Given the description of an element on the screen output the (x, y) to click on. 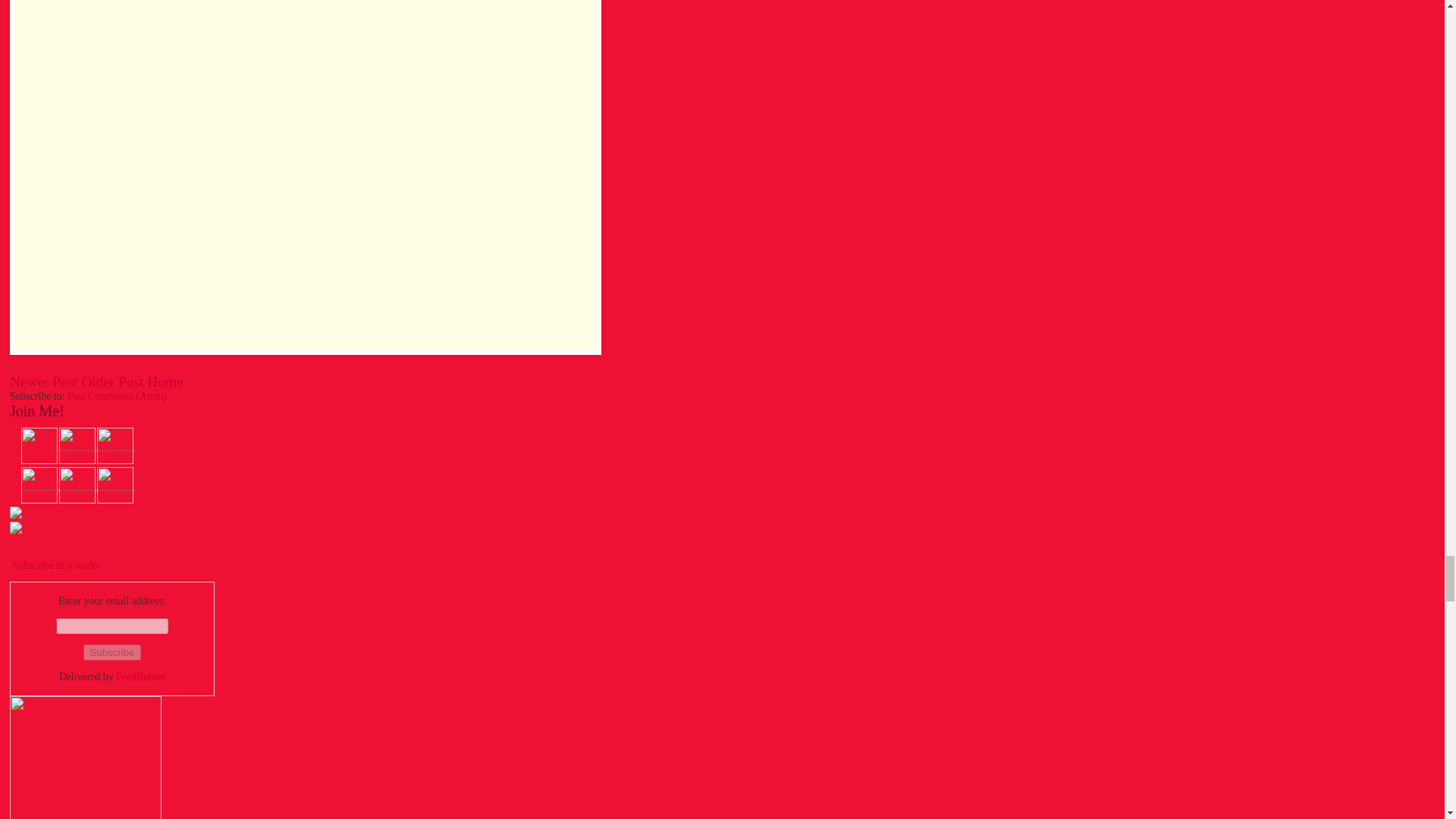
Subscribe (110, 652)
Older Post (111, 381)
Newer Post (44, 381)
